Given the description of an element on the screen output the (x, y) to click on. 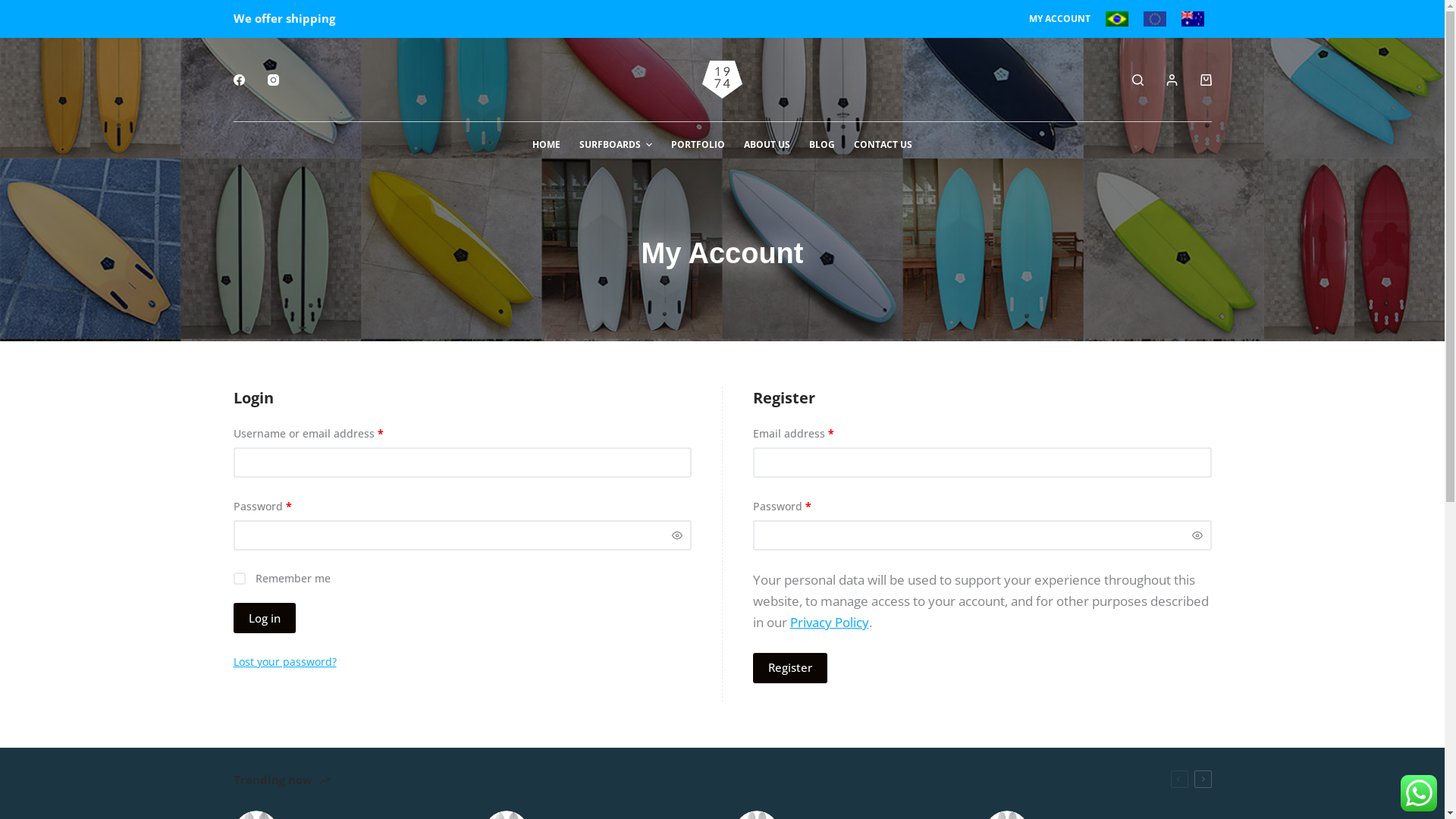
BLOG Element type: text (1120, 707)
SURFBOARDS Element type: text (615, 144)
PORTFOLIO Element type: text (698, 144)
HOME Element type: text (856, 707)
PORTFOLIO Element type: text (996, 707)
Lost your password? Element type: text (284, 661)
ABOUT US Element type: text (1065, 707)
BLOG Element type: text (822, 144)
ABOUT US Element type: text (767, 144)
MY ACCOUNT Element type: text (1058, 18)
CONTACT US Element type: text (883, 144)
HOME Element type: text (545, 144)
Contact Us Element type: text (721, 614)
Log in Element type: text (264, 617)
Terms and conditions Element type: text (721, 571)
About Us Element type: text (722, 593)
CONTACT US Element type: text (1181, 707)
Register Element type: text (789, 667)
Skip to content Element type: text (15, 7)
SURFBOARDS Element type: text (920, 707)
Privacy Policy Element type: text (829, 621)
